Given the description of an element on the screen output the (x, y) to click on. 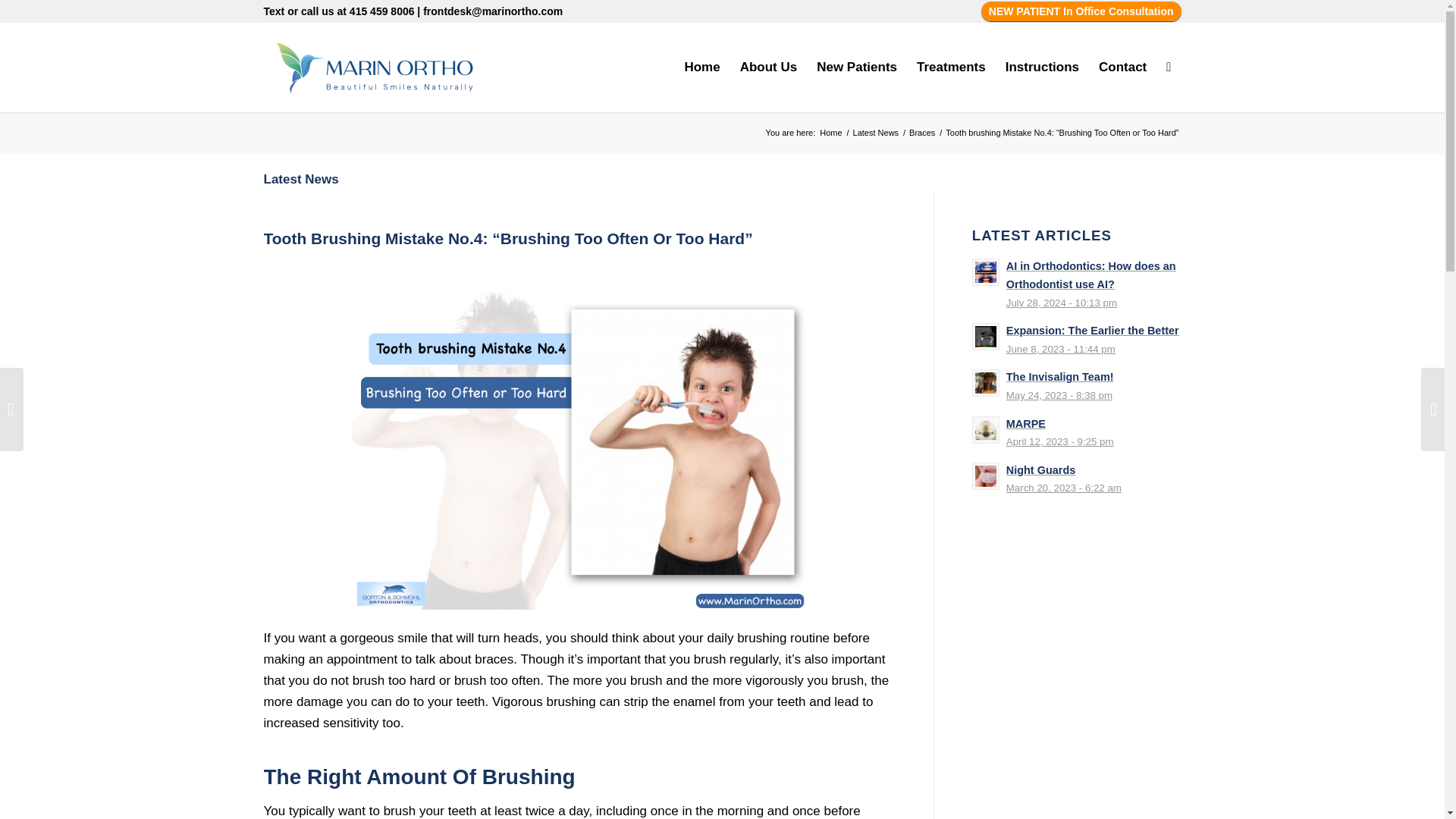
415 459 8006 (381, 10)
Marin Ortho (830, 132)
NEW PATIENT In Office Consultation (1080, 11)
Treatments (951, 67)
Permanent Link: Latest News (301, 178)
Latest News (875, 132)
New Patients (856, 67)
Instructions (1042, 67)
